Given the description of an element on the screen output the (x, y) to click on. 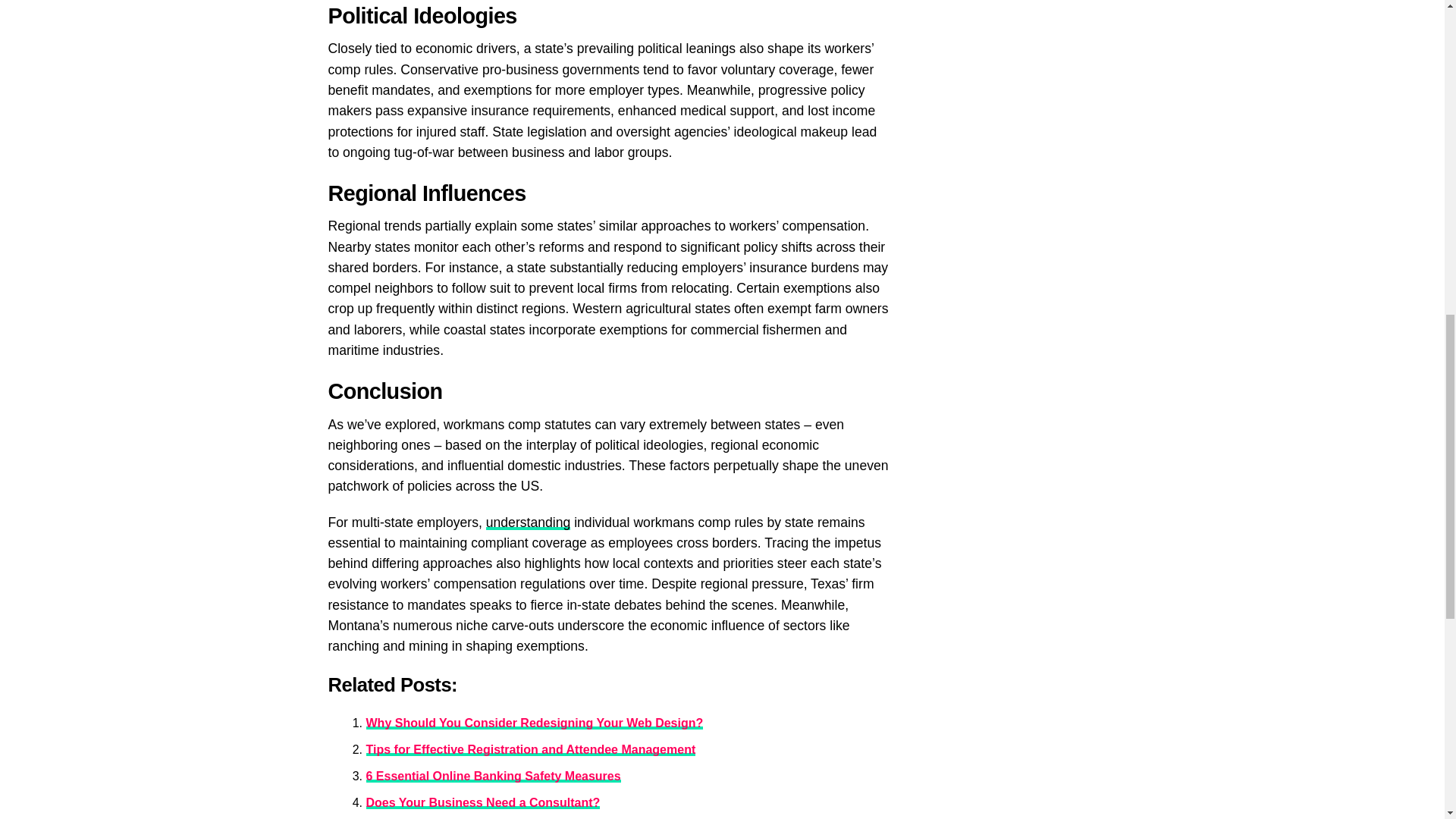
Does Your Business Need a Consultant? (482, 802)
Why Should You Consider Redesigning Your Web Design? (534, 722)
6 Essential Online Banking Safety Measures (492, 775)
Tips for Effective Registration and Attendee Management (530, 748)
